Given the description of an element on the screen output the (x, y) to click on. 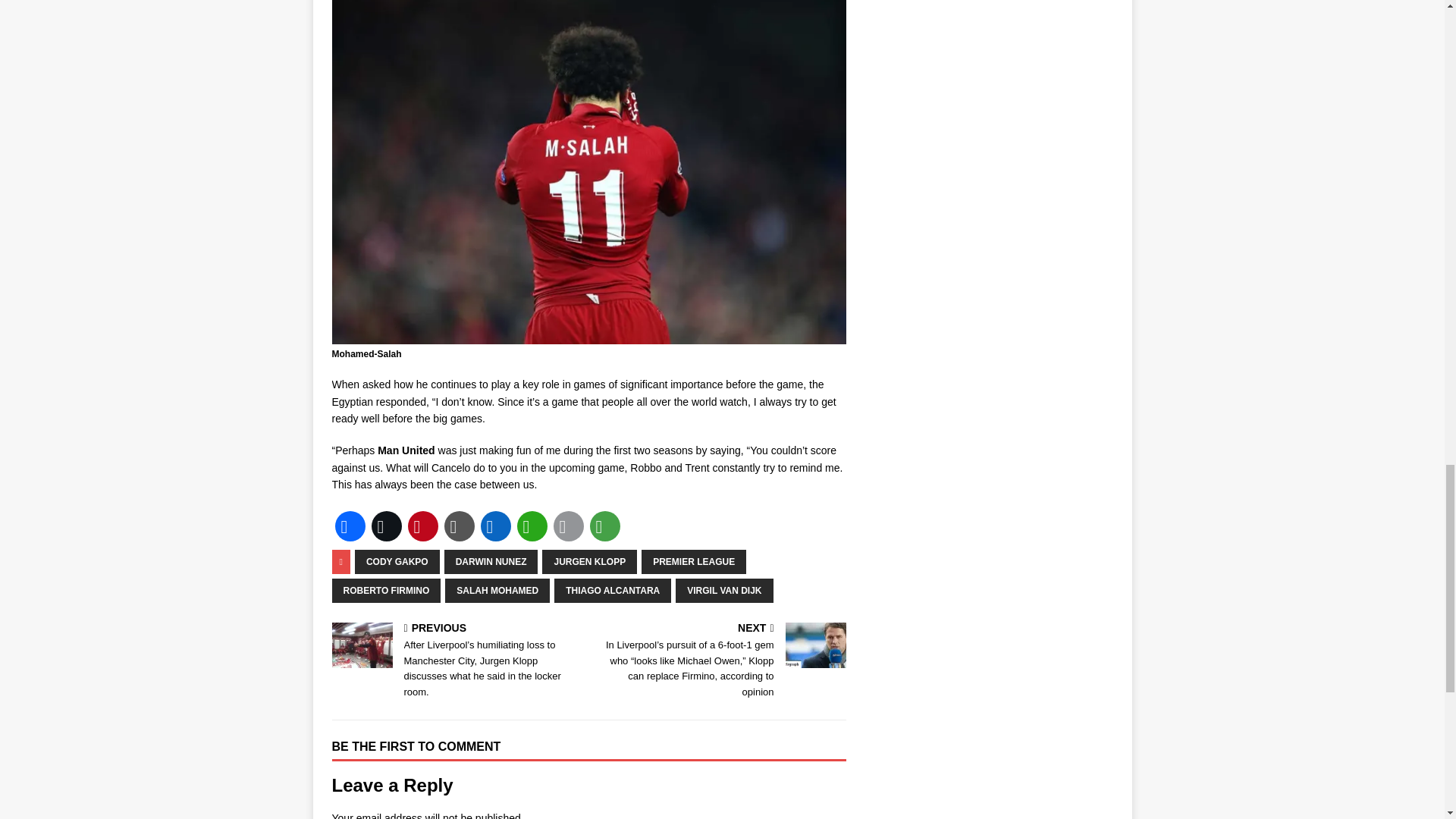
VIRGIL VAN DIJK (724, 590)
Email This (568, 525)
More Options (604, 525)
JURGEN KLOPP (589, 561)
DARWIN NUNEZ (491, 561)
THIAGO ALCANTARA (612, 590)
Pinterest (422, 525)
PREMIER LEAGUE (693, 561)
Copy Link (459, 525)
CODY GAKPO (397, 561)
